Given the description of an element on the screen output the (x, y) to click on. 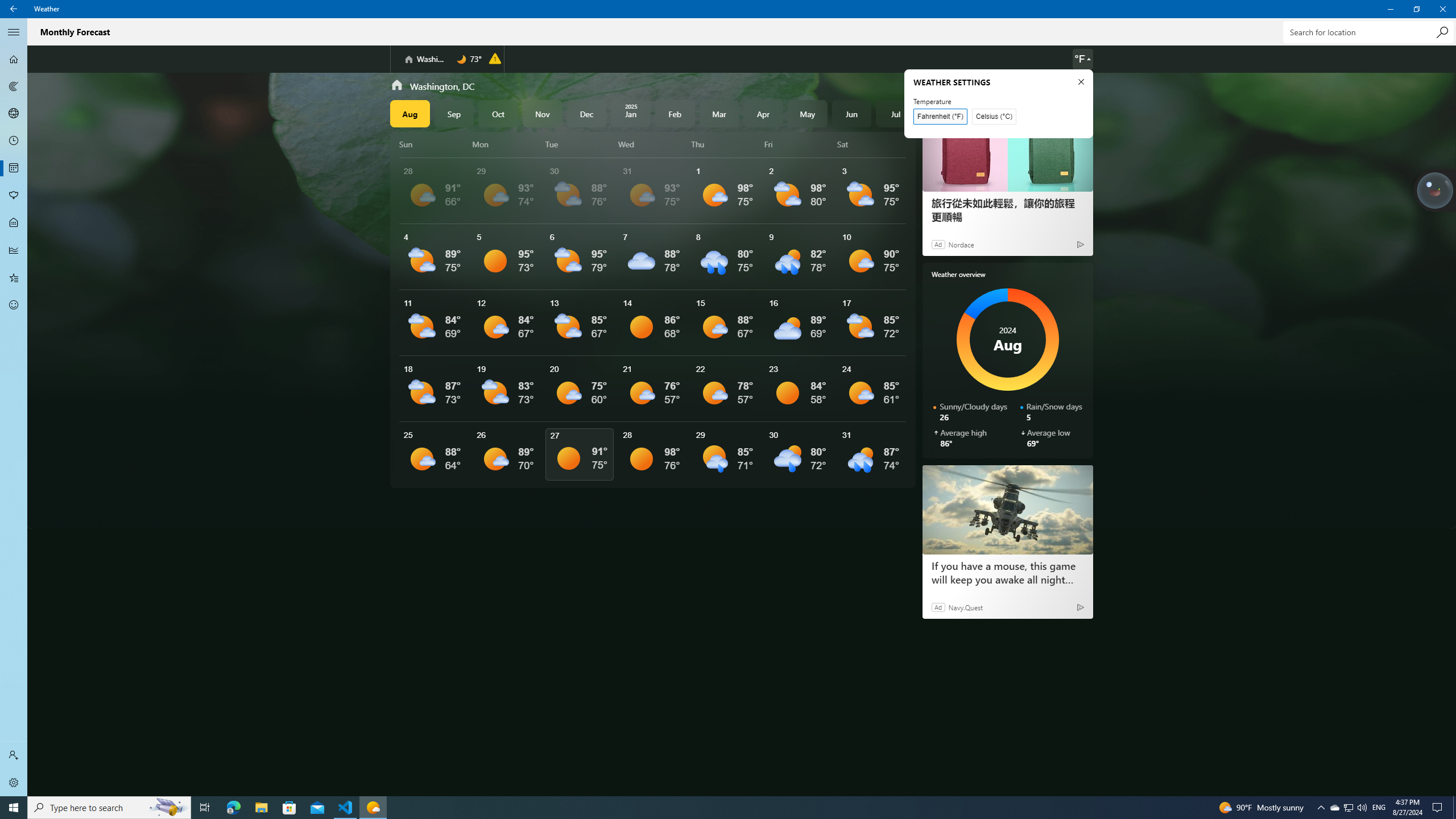
Hourly Forecast - Not Selected (13, 140)
Minimize Weather (1390, 9)
Send Feedback - Not Selected (13, 304)
Monthly Forecast - Not Selected (13, 167)
